Given the description of an element on the screen output the (x, y) to click on. 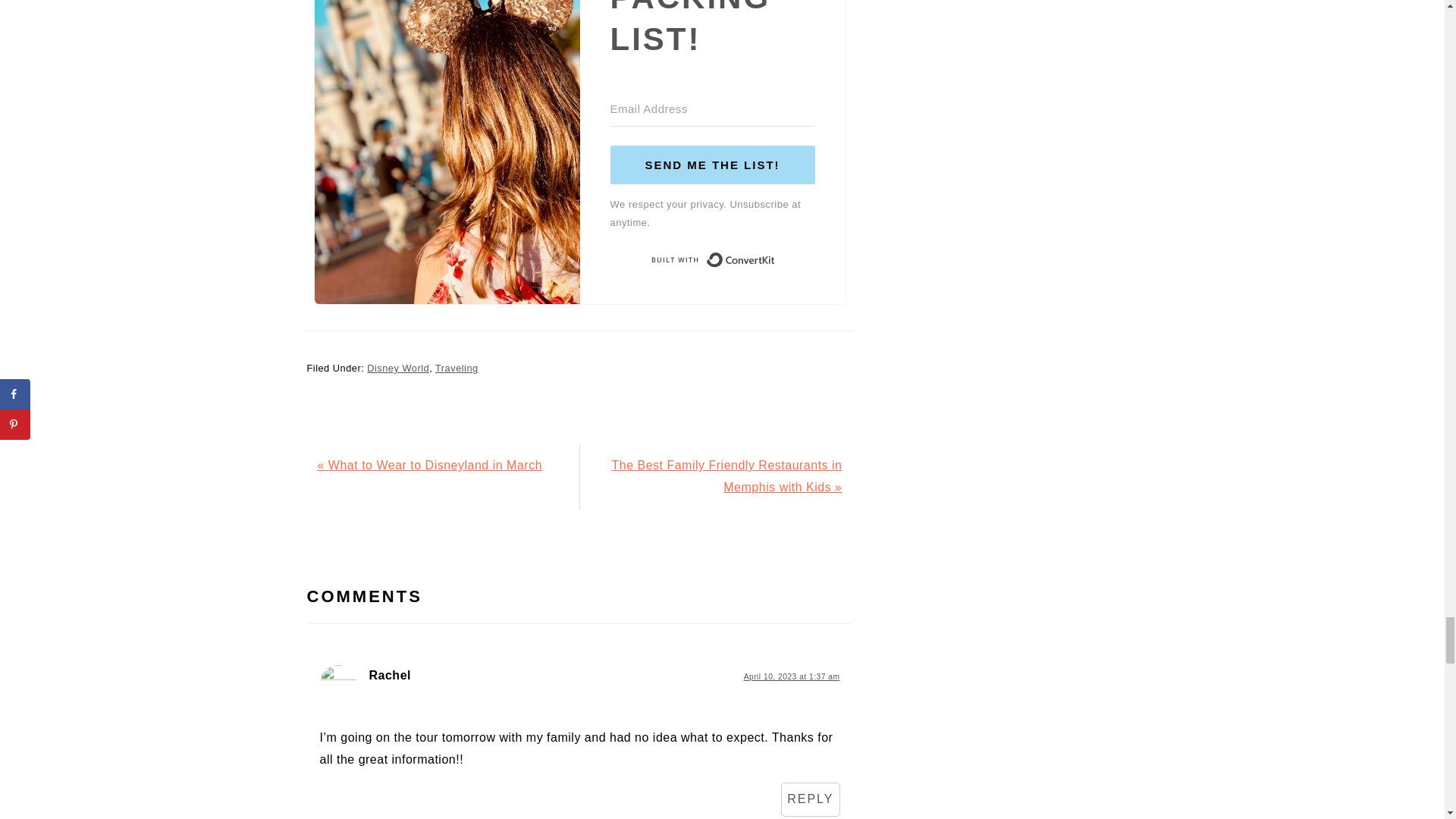
Built with ConvertKit (711, 259)
REPLY (810, 799)
Traveling (457, 367)
April 10, 2023 at 1:37 am (792, 676)
Disney World (397, 367)
SEND ME THE LIST! (711, 164)
